Given the description of an element on the screen output the (x, y) to click on. 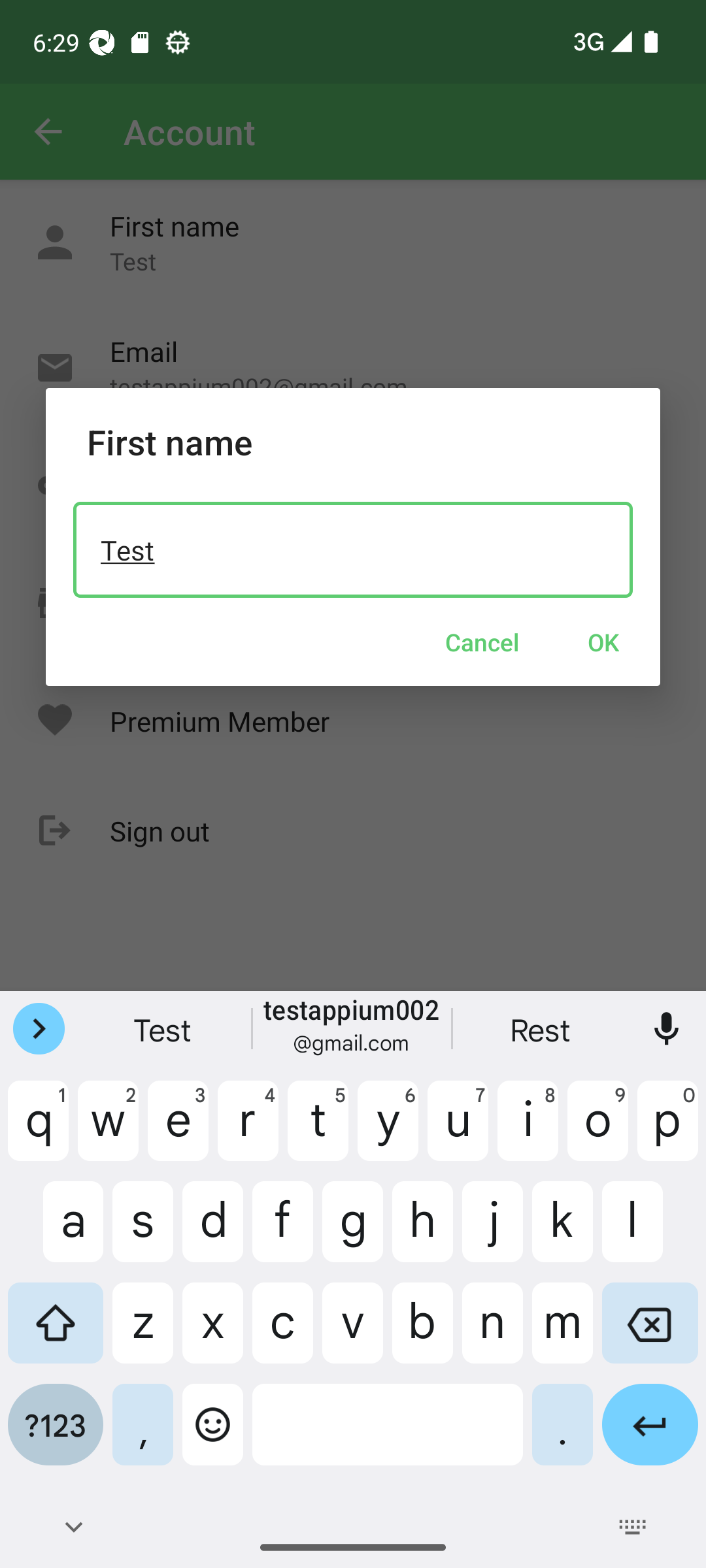
Test (352, 549)
Cancel (481, 641)
OK (603, 641)
